Given the description of an element on the screen output the (x, y) to click on. 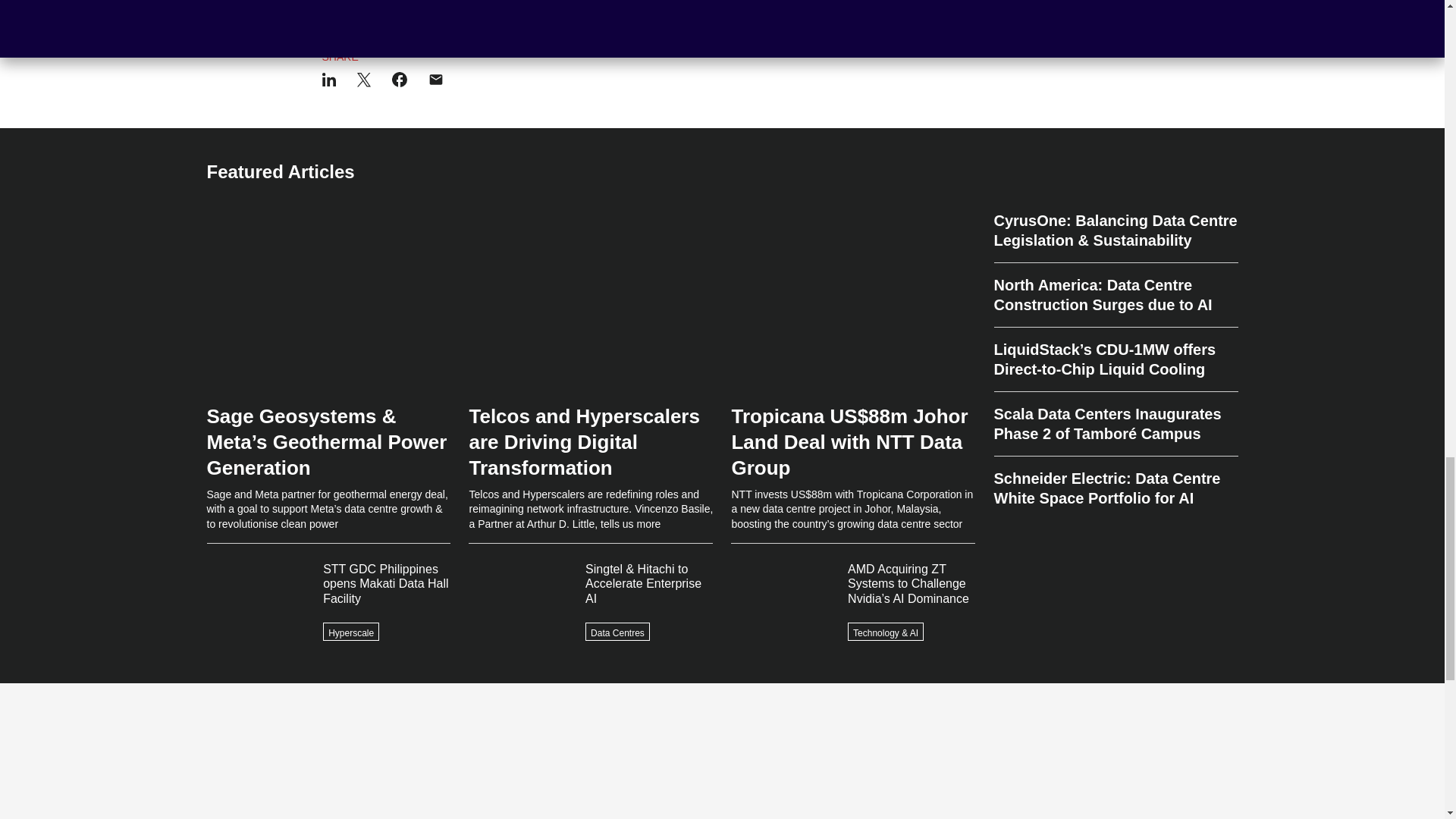
EXPANSION (538, 2)
Schneider Electric: Data Centre White Space Portfolio for AI (1114, 481)
DATACENTRES (464, 2)
FACEBOOK (350, 2)
North America: Data Centre Construction Surges due to AI (1114, 294)
META (403, 2)
